Given the description of an element on the screen output the (x, y) to click on. 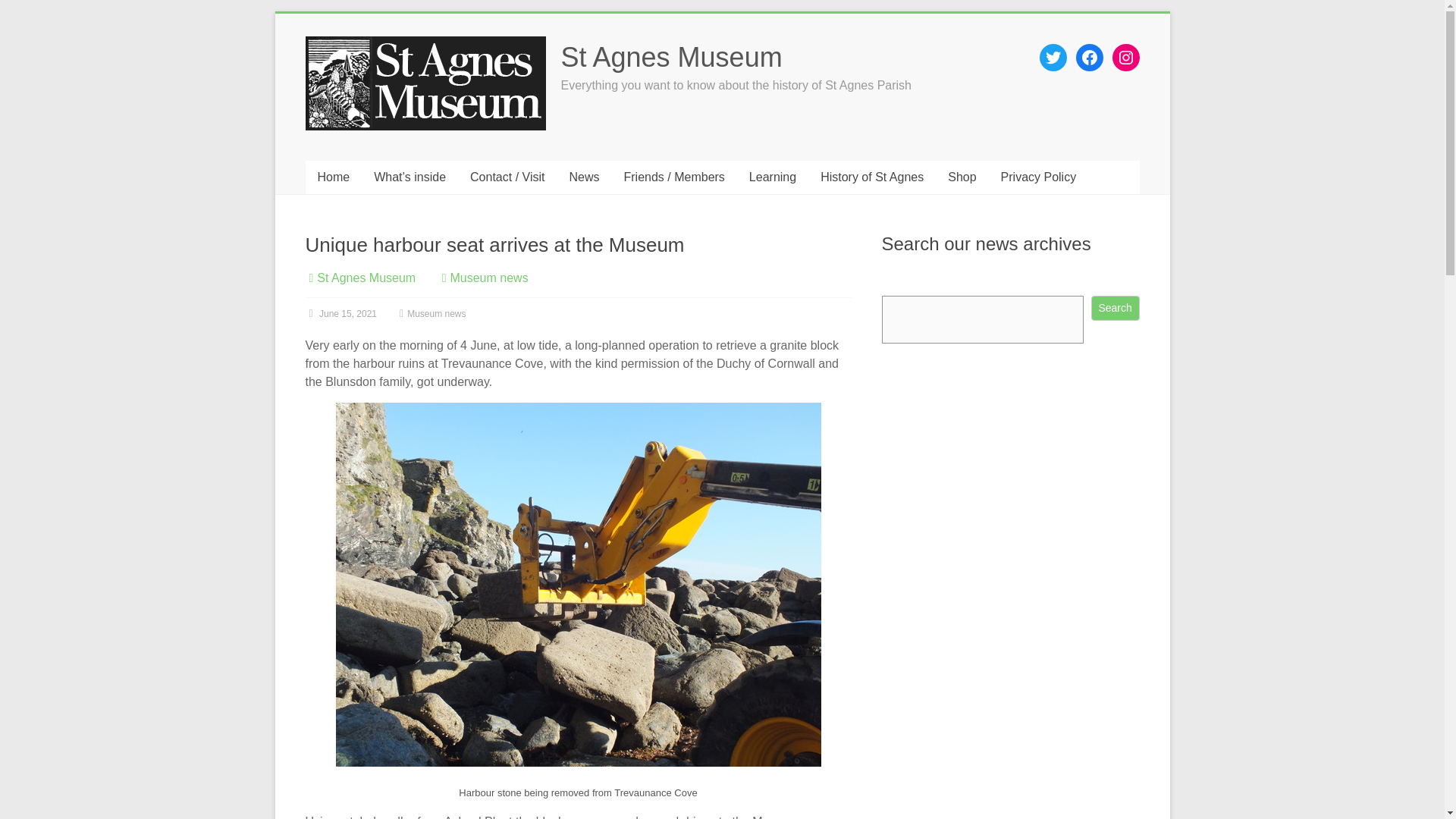
St Agnes Museum (671, 56)
Home (332, 177)
Museum news (488, 277)
Instagram (1125, 57)
St Agnes Museum (365, 277)
June 15, 2021 (340, 313)
Shop (962, 177)
Privacy Policy (1038, 177)
History of St Agnes (872, 177)
Facebook (1088, 57)
9:44 am (340, 313)
News (583, 177)
St Agnes Museum (671, 56)
Search (1115, 308)
